Given the description of an element on the screen output the (x, y) to click on. 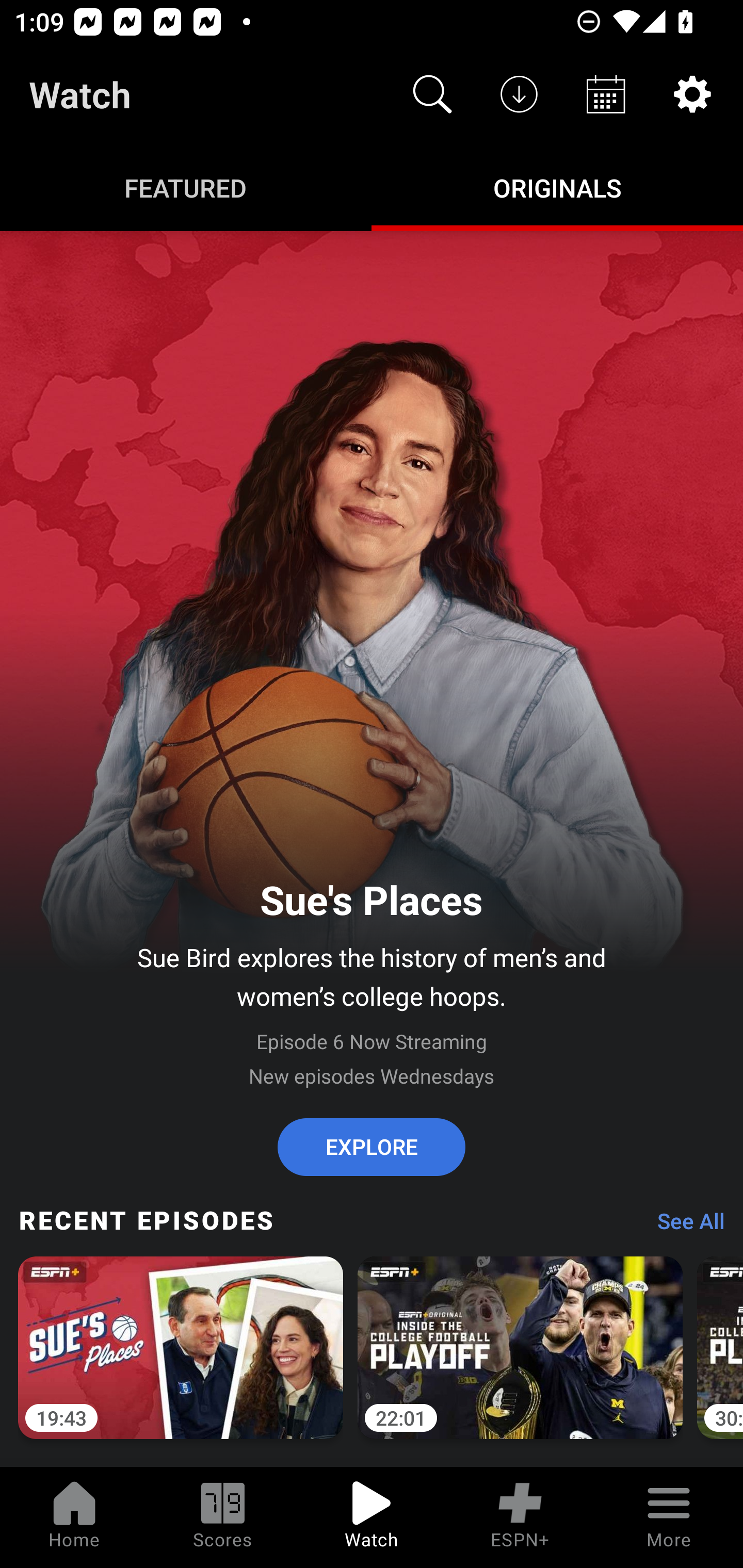
Search (432, 93)
Downloads (518, 93)
Schedule (605, 93)
Settings (692, 93)
Featured FEATURED (185, 187)
EXPLORE (371, 1146)
See All (683, 1225)
Home (74, 1517)
Scores (222, 1517)
ESPN+ (519, 1517)
More (668, 1517)
